Given the description of an element on the screen output the (x, y) to click on. 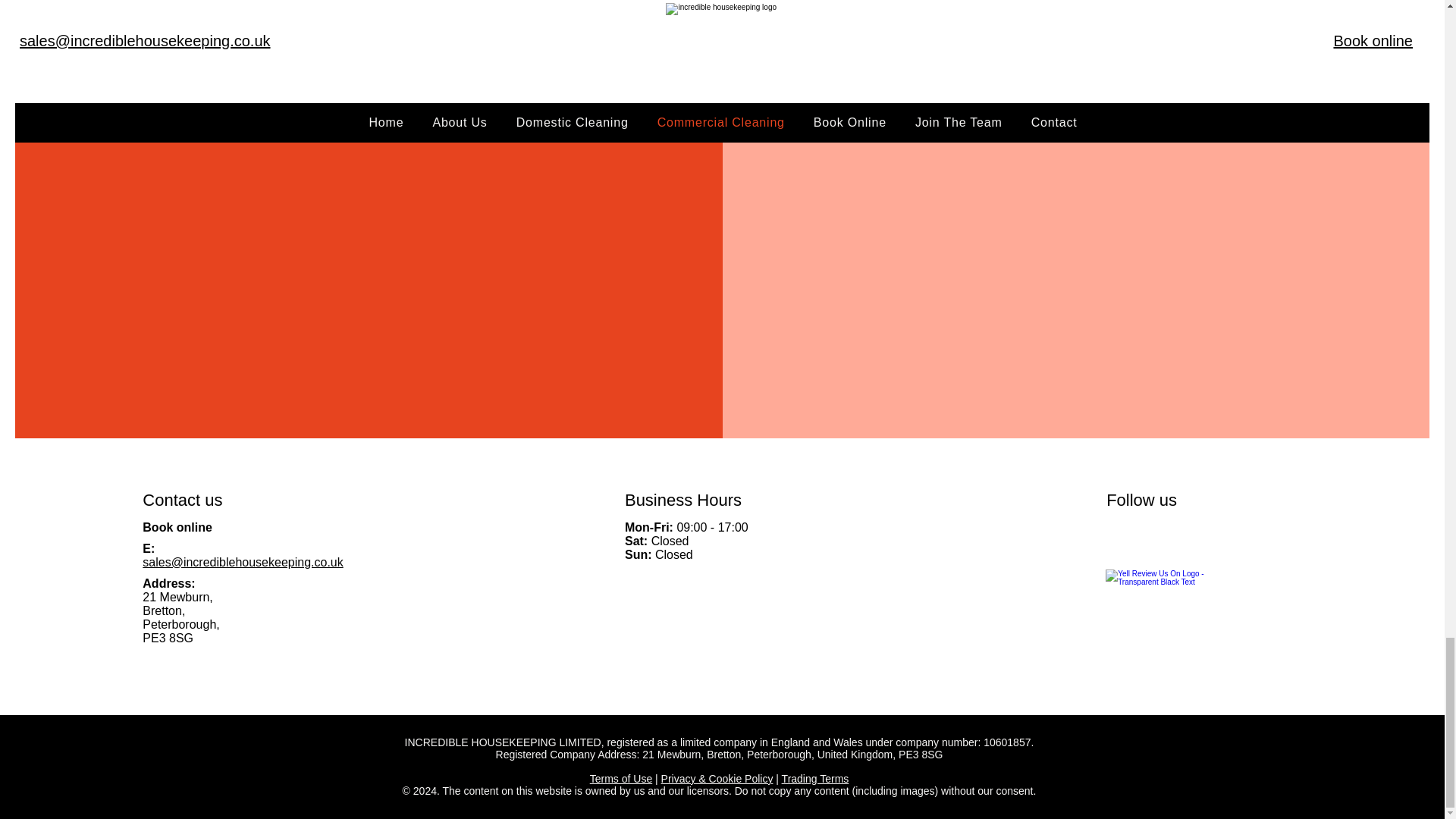
Book online (177, 526)
Terms of Use (620, 778)
Trading Terms (814, 778)
